Given the description of an element on the screen output the (x, y) to click on. 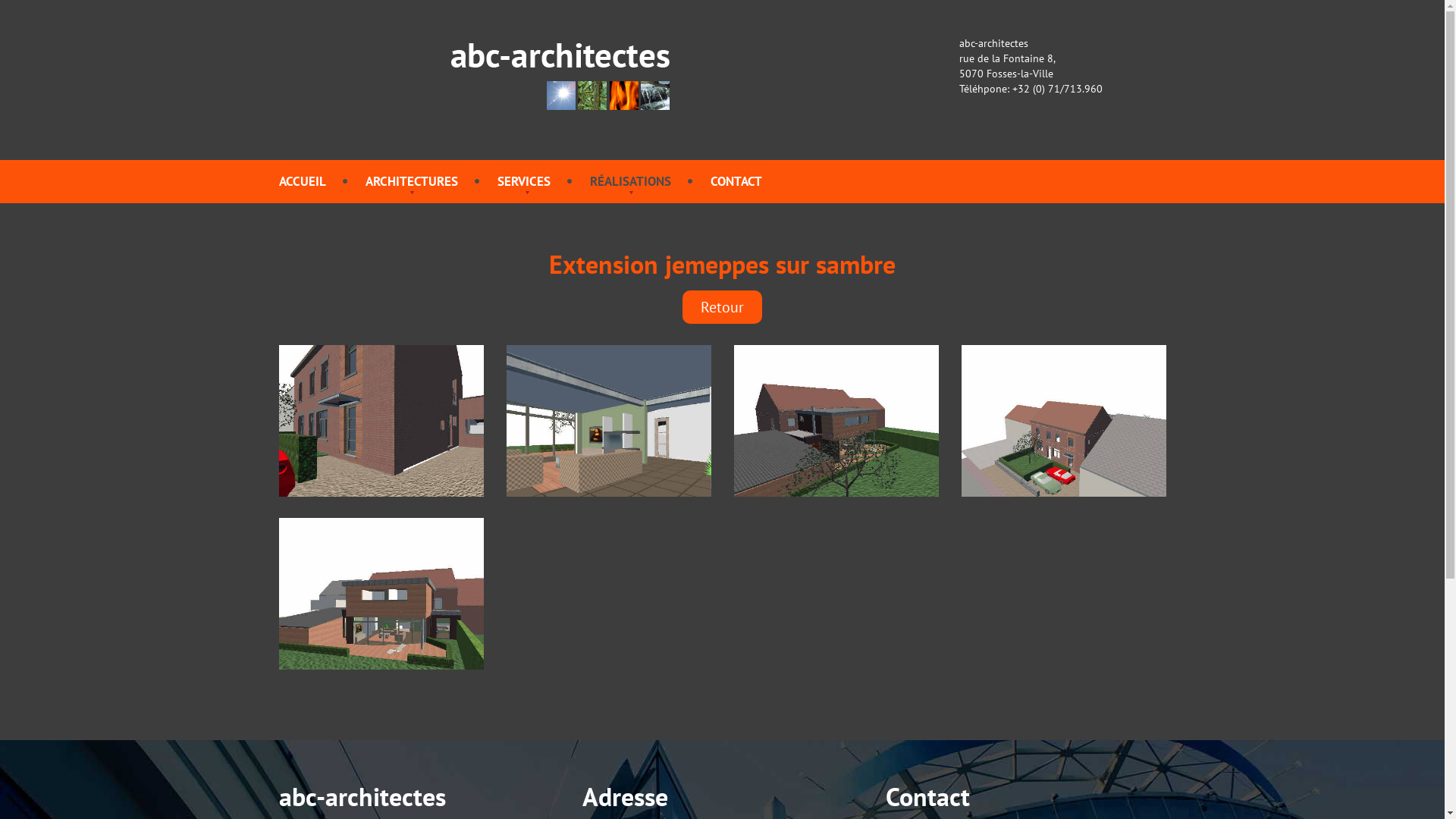
ACCUEIL Element type: text (302, 180)
CONTACT Element type: text (735, 180)
Retour Element type: text (722, 306)
SERVICES Element type: text (523, 180)
ARCHITECTURES Element type: text (411, 180)
